Given the description of an element on the screen output the (x, y) to click on. 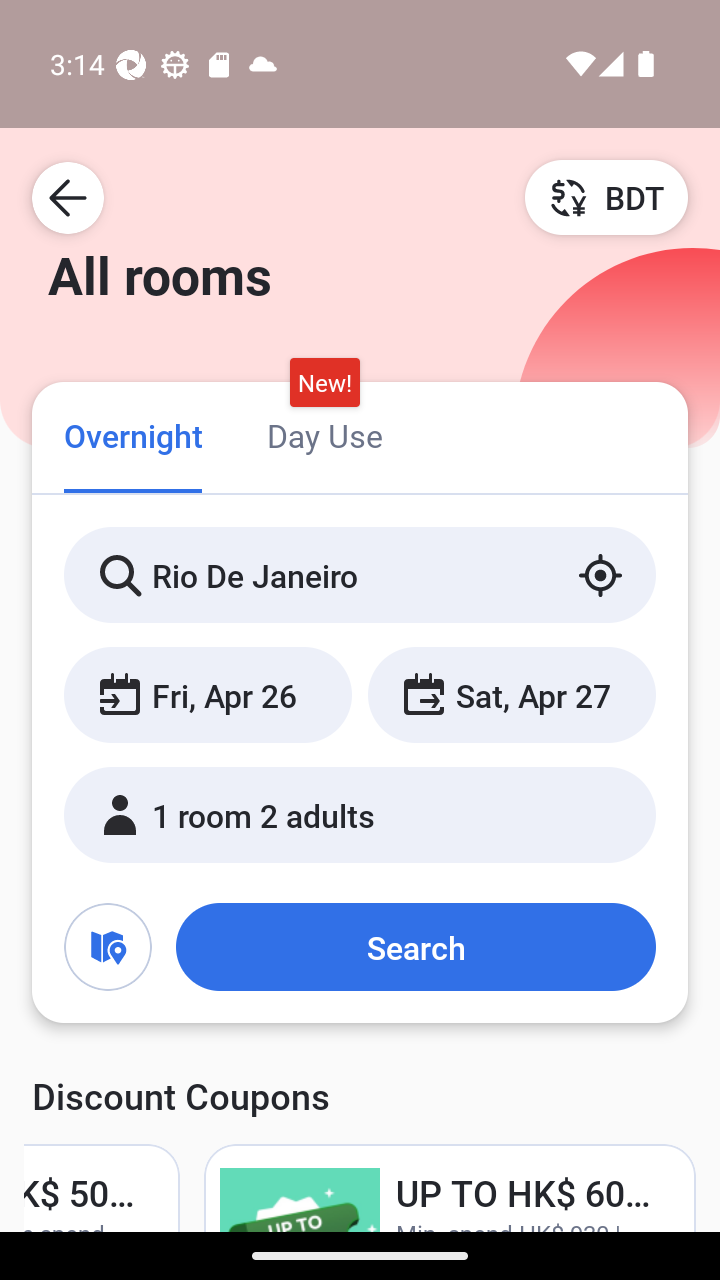
BDT (606, 197)
New! (324, 383)
Day Use (324, 434)
Rio De Janeiro (359, 575)
Fri, Apr 26 (208, 694)
Sat, Apr 27 (511, 694)
1 room 2 adults (359, 814)
Search (415, 946)
